Given the description of an element on the screen output the (x, y) to click on. 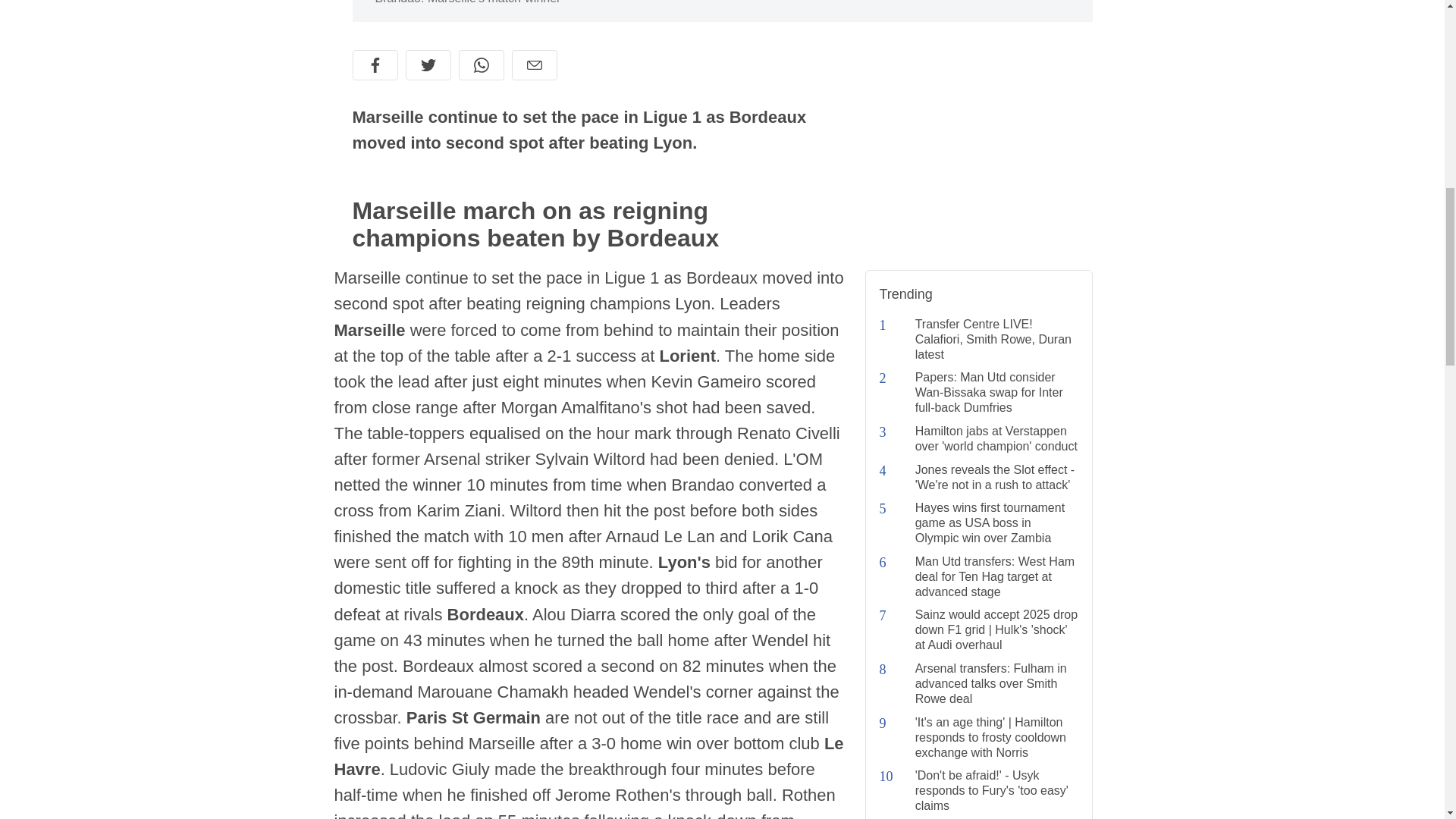
Share on WhatsApp (480, 64)
Share on Facebook (374, 64)
Share by email (533, 64)
Share on Twitter (426, 64)
